Given the description of an element on the screen output the (x, y) to click on. 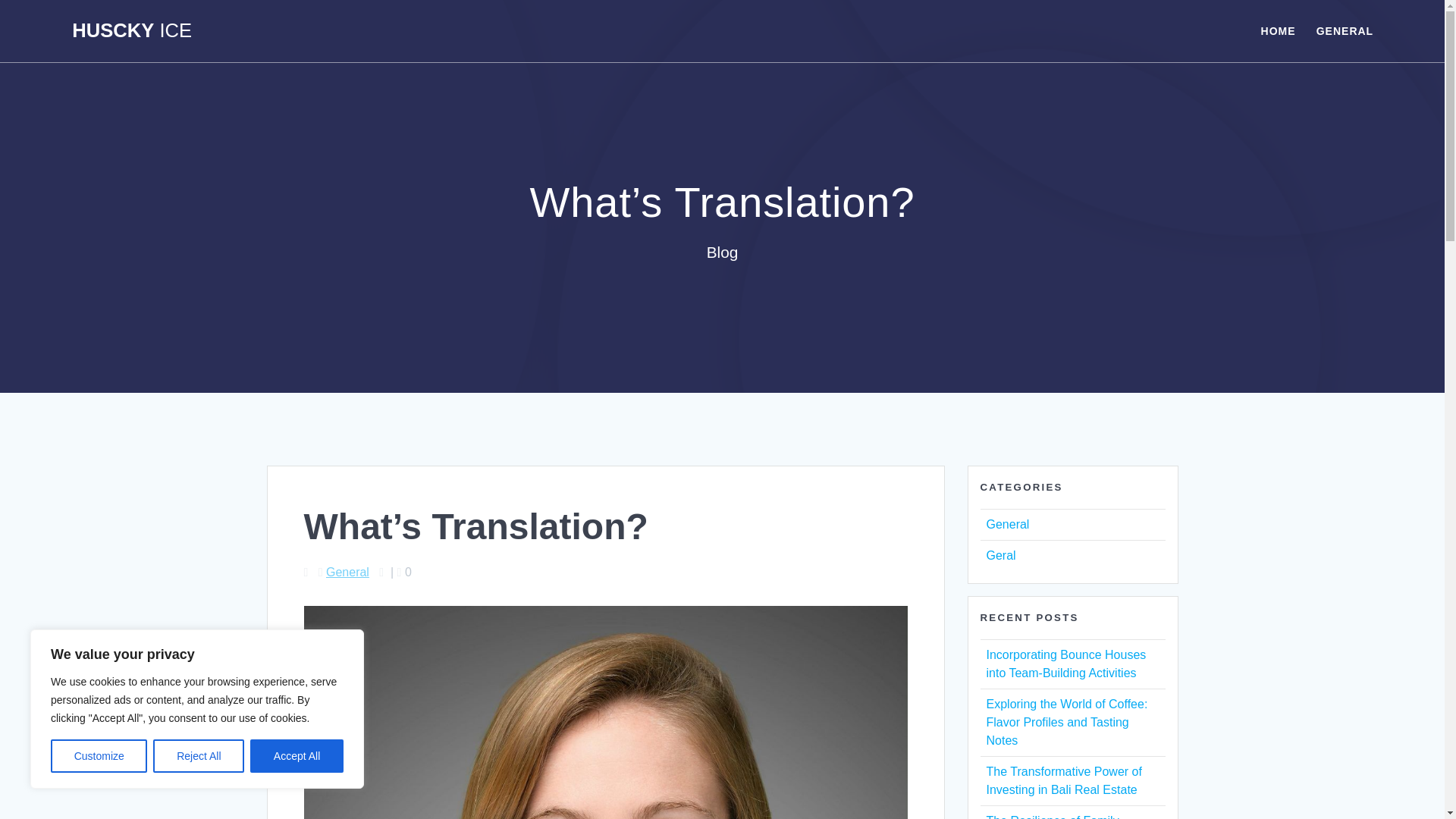
General (1007, 523)
HOME (1277, 30)
Geral (999, 554)
HUSCKY ICE (131, 30)
Customize (98, 756)
Accept All (296, 756)
General (347, 571)
Reject All (198, 756)
The Transformative Power of Investing in Bali Real Estate (1063, 780)
